Given the description of an element on the screen output the (x, y) to click on. 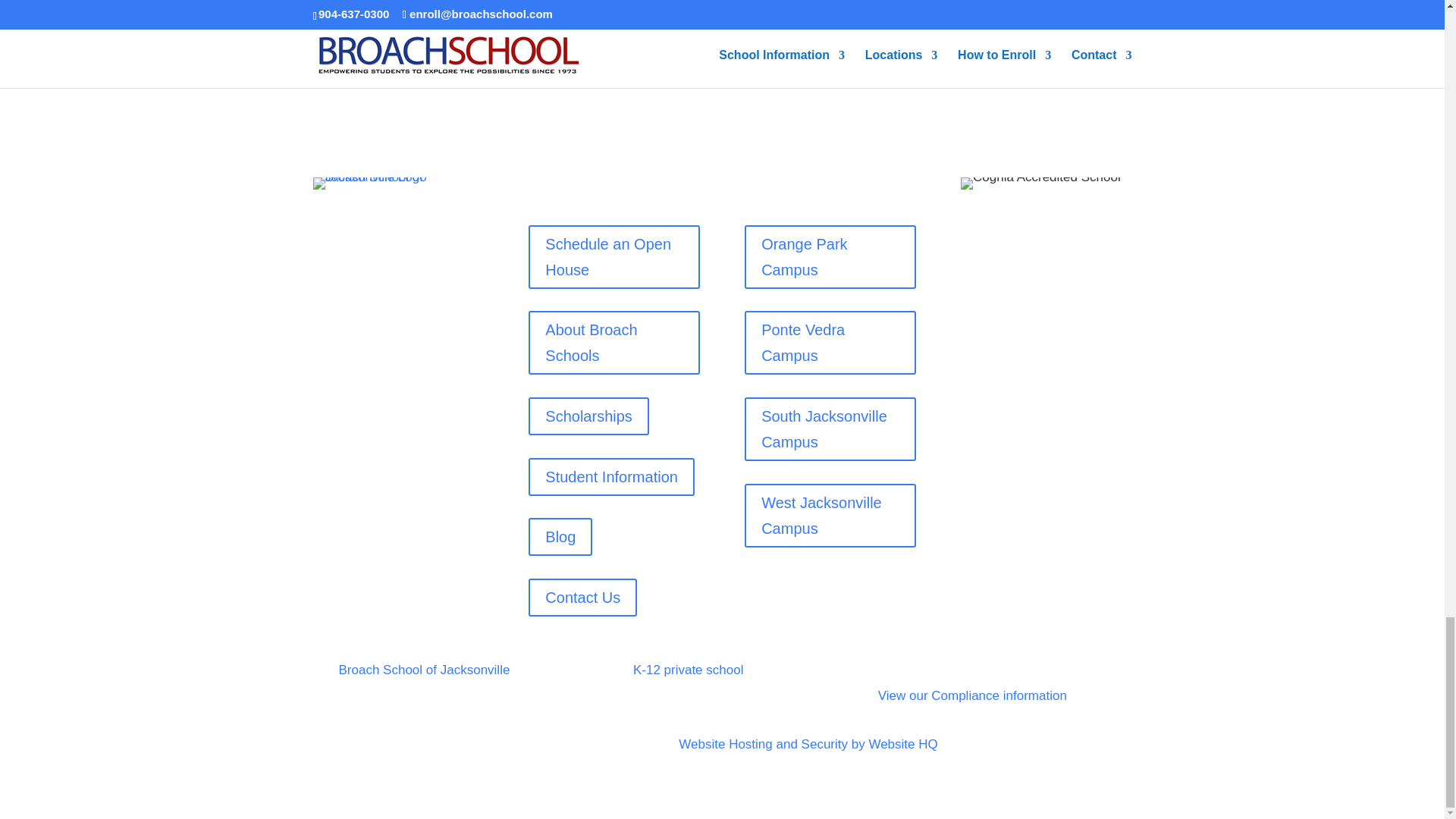
Follow on Pinterest (415, 223)
Broach School Logo Stacked (398, 183)
Follow on Facebook (324, 223)
Follow on Instagram (384, 223)
Follow on X (354, 223)
Cognia Accredited (1040, 183)
